Given the description of an element on the screen output the (x, y) to click on. 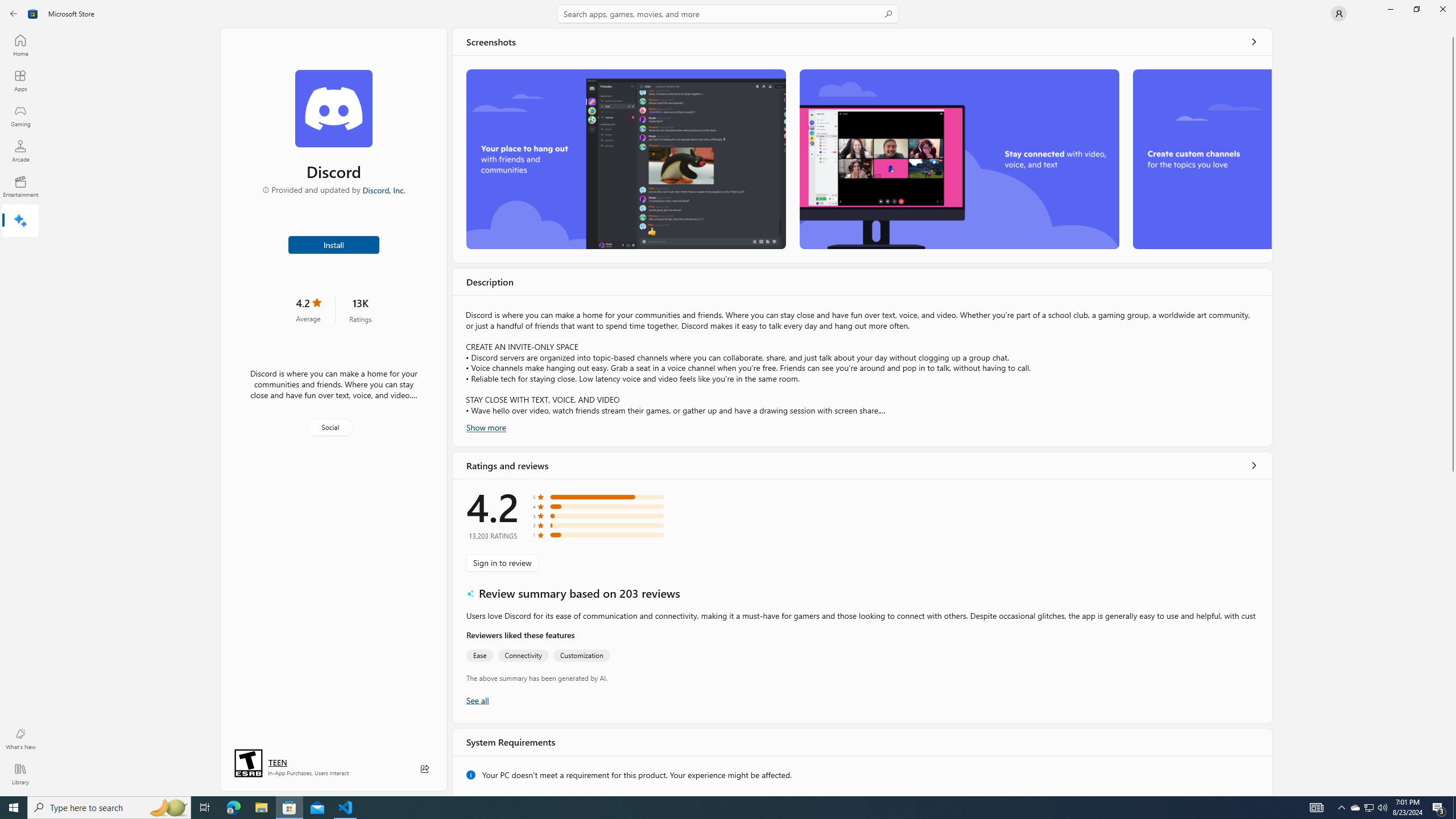
Install (334, 244)
Share (424, 769)
Gaming (20, 115)
Screenshot 1 (625, 158)
What's New (20, 738)
Social (329, 426)
Age rating: TEEN. Click for more information. (276, 762)
Close Microsoft Store (1442, 9)
Home (20, 45)
AutomationID: NavigationControl (728, 398)
AI Hub (20, 221)
Discord, Inc. (383, 189)
Sign in to review (501, 562)
Search (727, 13)
Back (13, 13)
